Given the description of an element on the screen output the (x, y) to click on. 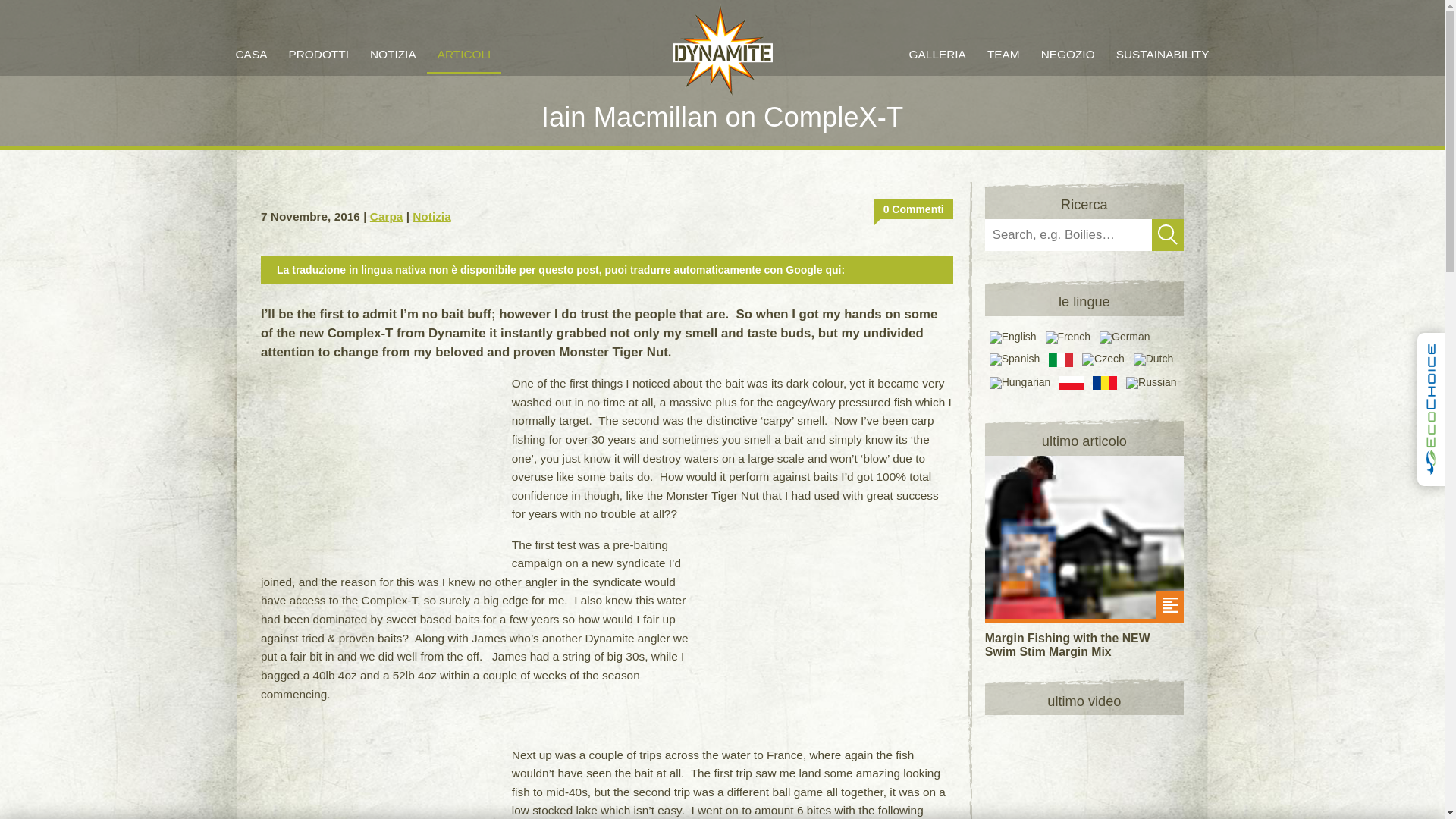
NEGOZIO (1067, 55)
GALLERIA (937, 54)
0 Commenti (914, 209)
Polish (1070, 383)
French (1066, 337)
Carpa (386, 215)
Hungarian (1019, 383)
NOTIZIA (392, 55)
SUSTAINABILITY (1162, 54)
Notizia (430, 215)
ARTICOLI (464, 55)
Dutch (1152, 359)
Czech (1101, 359)
German (1123, 337)
